Given the description of an element on the screen output the (x, y) to click on. 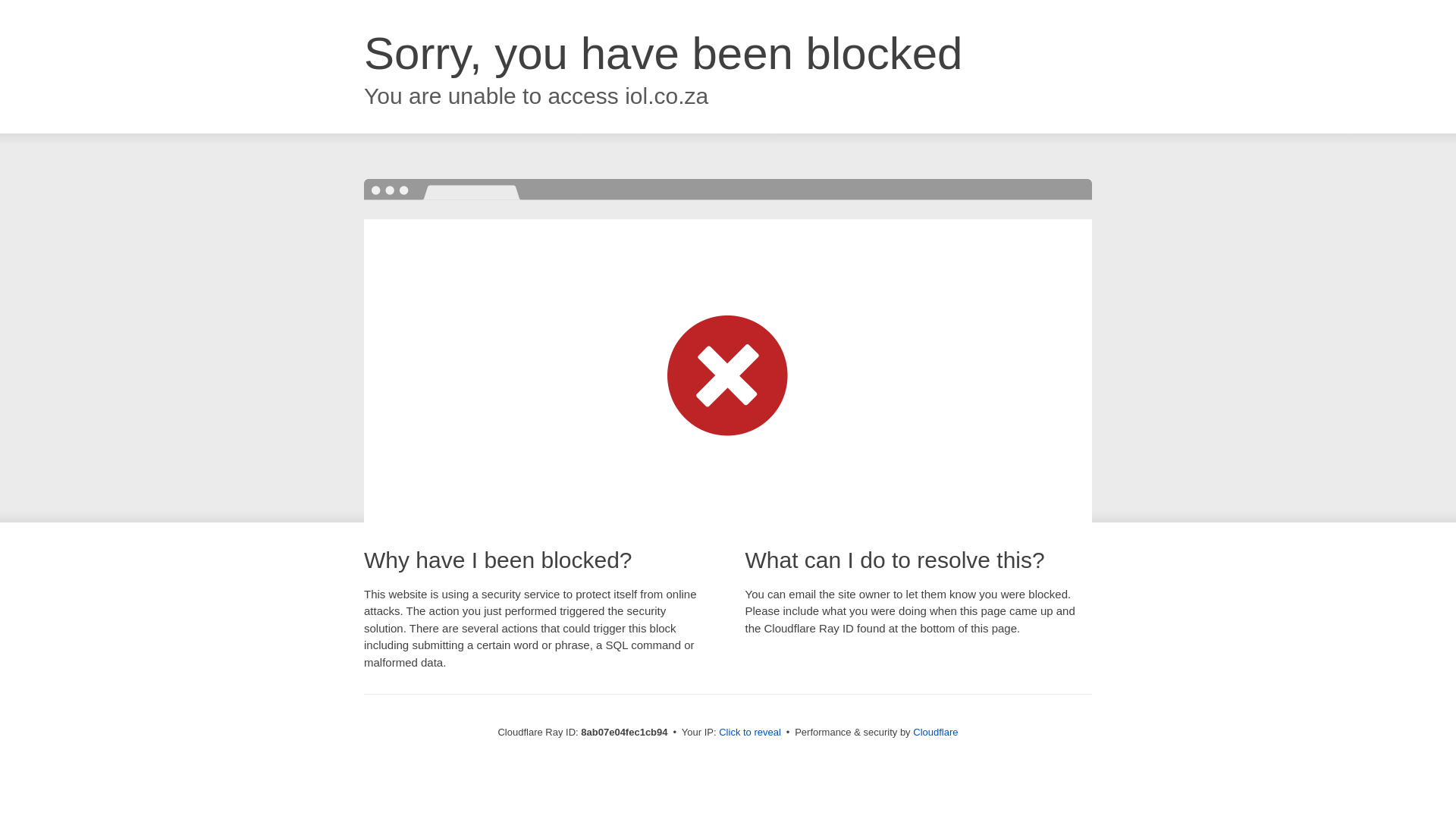
Click to reveal (749, 732)
Cloudflare (935, 731)
